Given the description of an element on the screen output the (x, y) to click on. 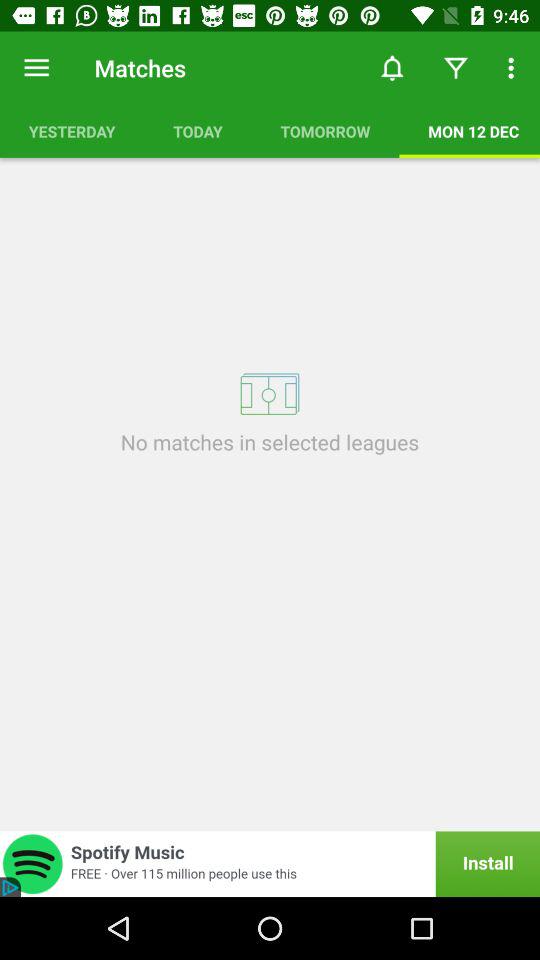
choose the item below the matches item (197, 131)
